Given the description of an element on the screen output the (x, y) to click on. 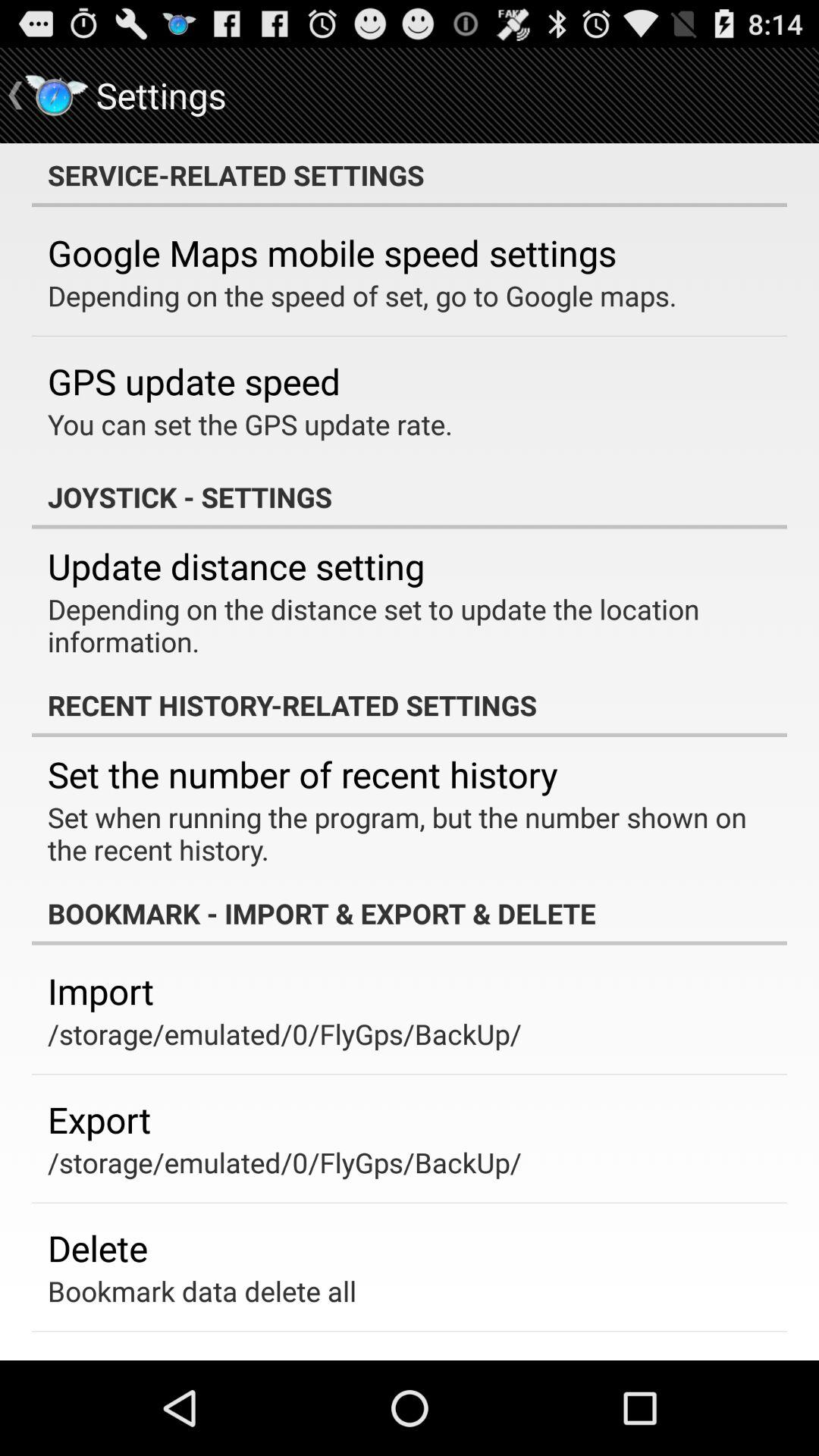
flip to bookmark import export (409, 913)
